Given the description of an element on the screen output the (x, y) to click on. 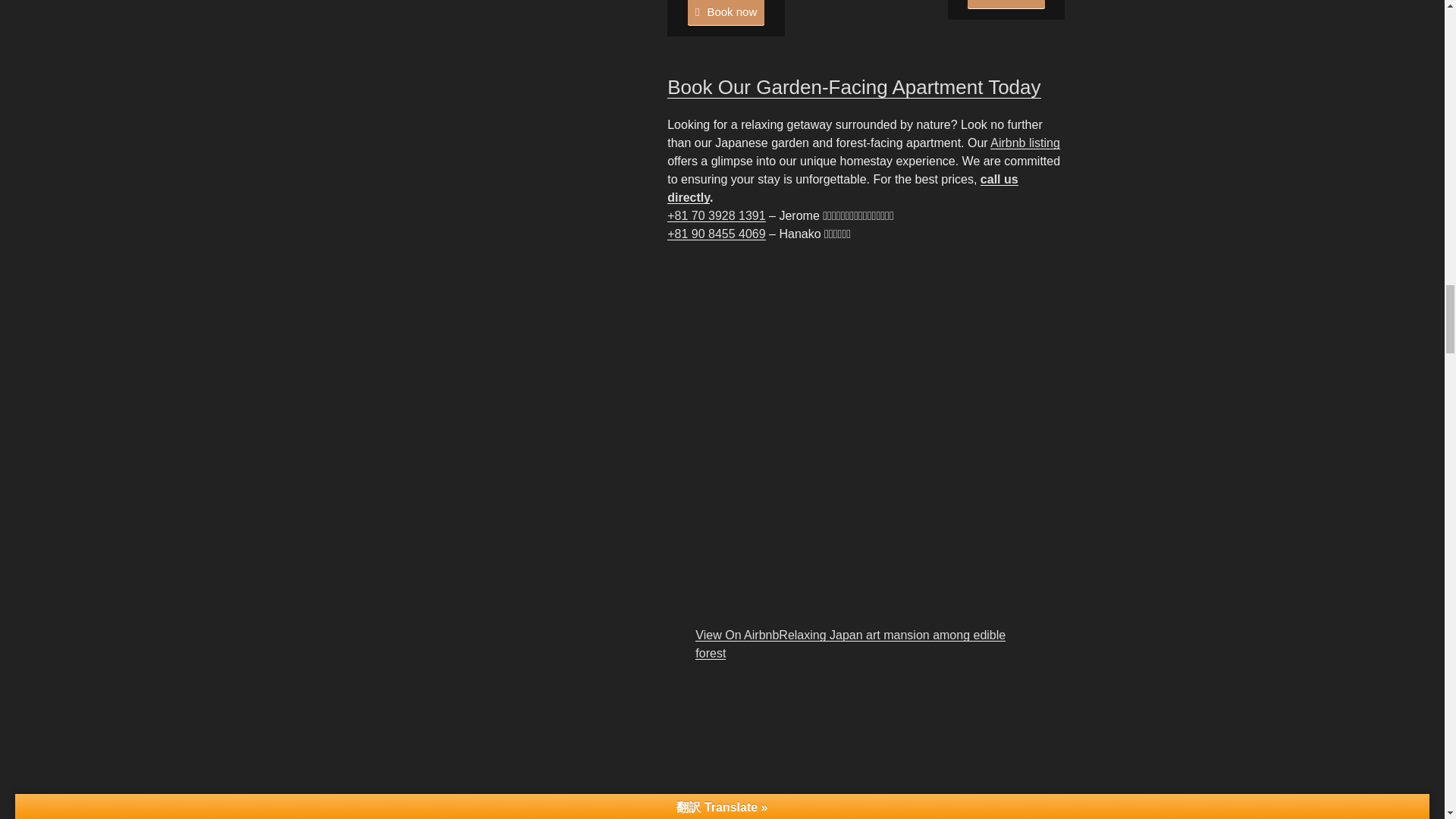
Book now (1005, 4)
Book now (725, 12)
View On Airbnb (736, 634)
Airbnb listing (1024, 142)
Relaxing Japan art mansion among edible forest (850, 644)
Book Our Garden-Facing Apartment Today (853, 87)
call us directly (841, 187)
